Given the description of an element on the screen output the (x, y) to click on. 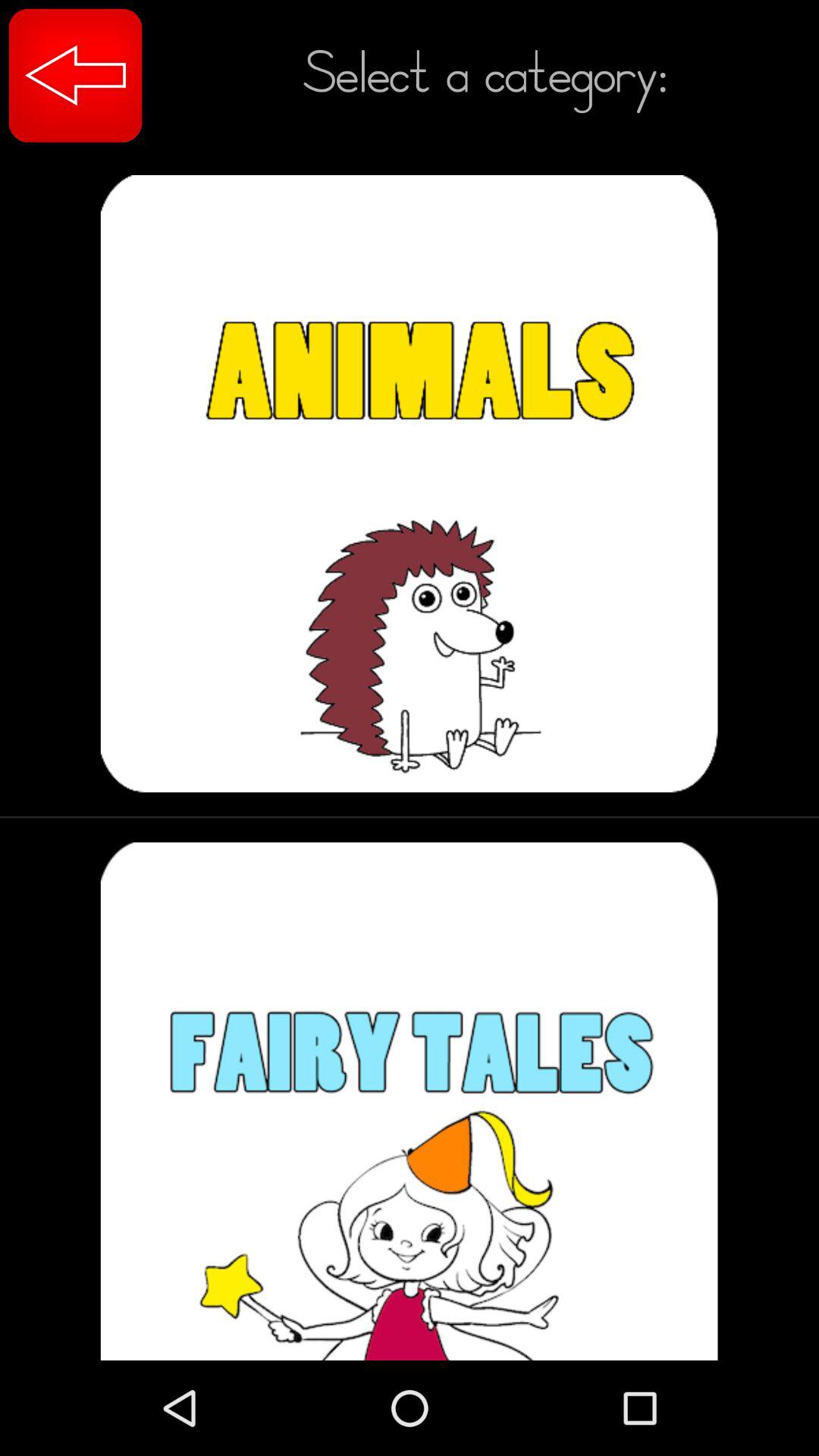
turn off item next to select a category: item (75, 75)
